Given the description of an element on the screen output the (x, y) to click on. 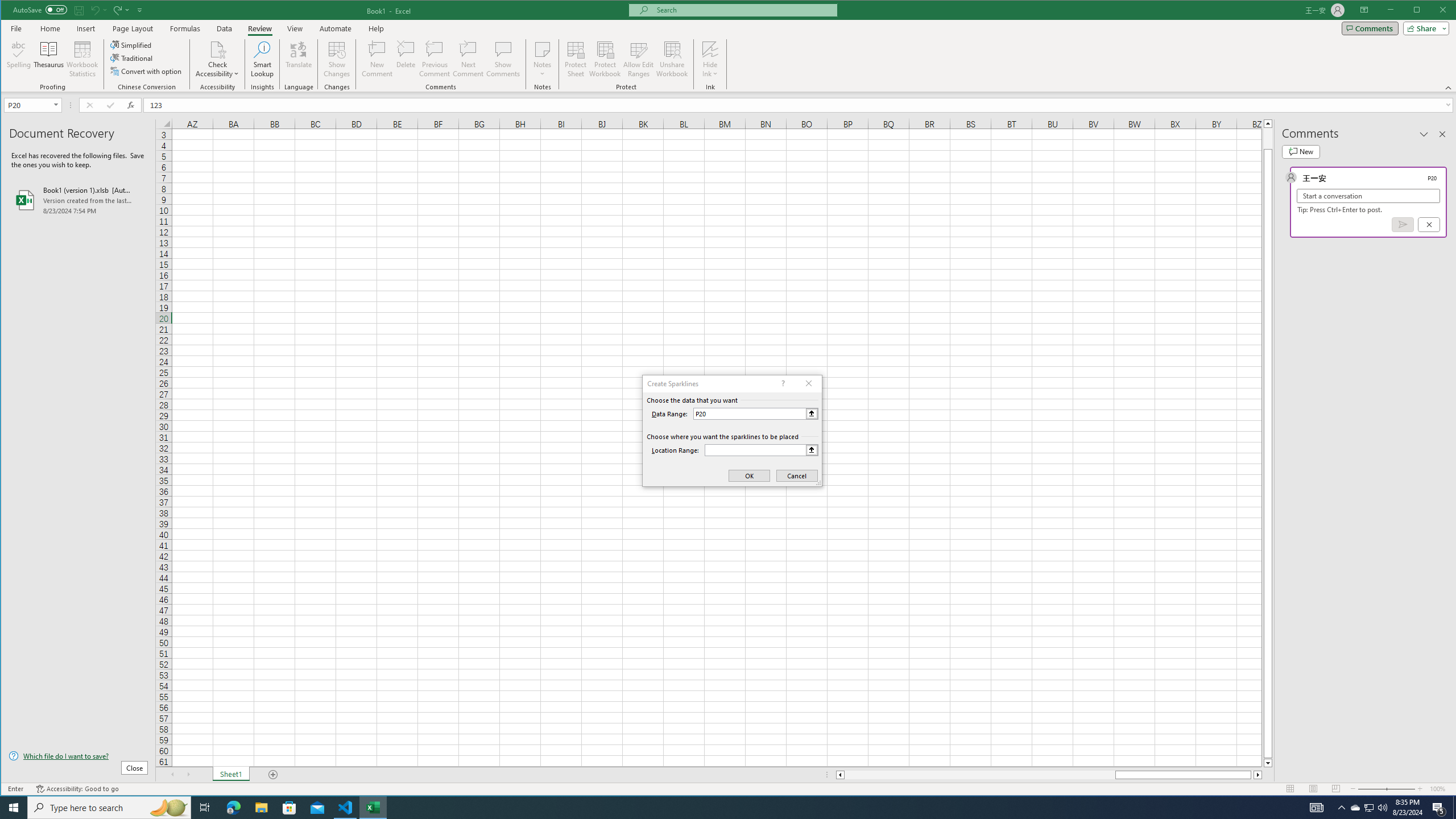
Cancel (1428, 224)
Thesaurus... (48, 59)
